Given the description of an element on the screen output the (x, y) to click on. 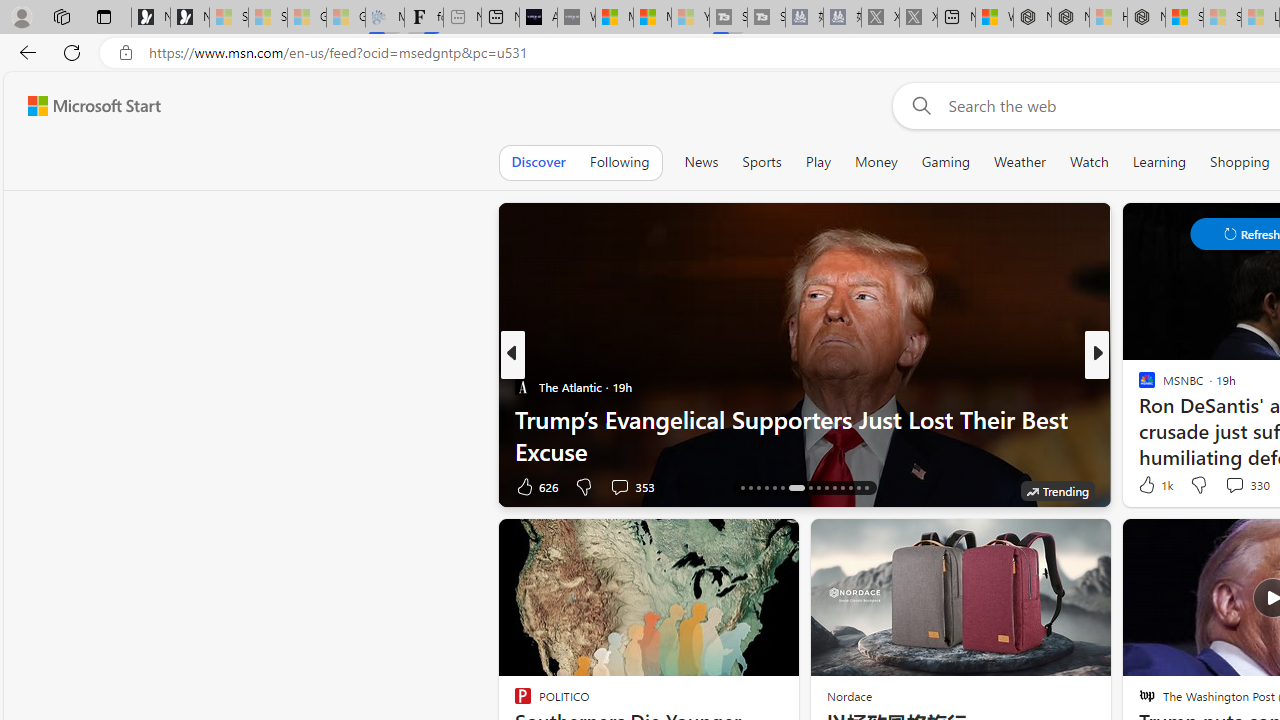
AutomationID: tab-29 (857, 487)
Web search (917, 105)
Shopping (1240, 161)
Comments turned off for this story (1222, 485)
TAG24 NEWS (1138, 386)
Following (619, 162)
View comments 1 Comment (1229, 485)
AutomationID: tab-23 (810, 487)
View comments 330 Comment (1234, 485)
AutomationID: tab-26 (833, 487)
AutomationID: tab-27 (842, 487)
View comments 2 Comment (1229, 485)
You're following FOX News (445, 490)
